Given the description of an element on the screen output the (x, y) to click on. 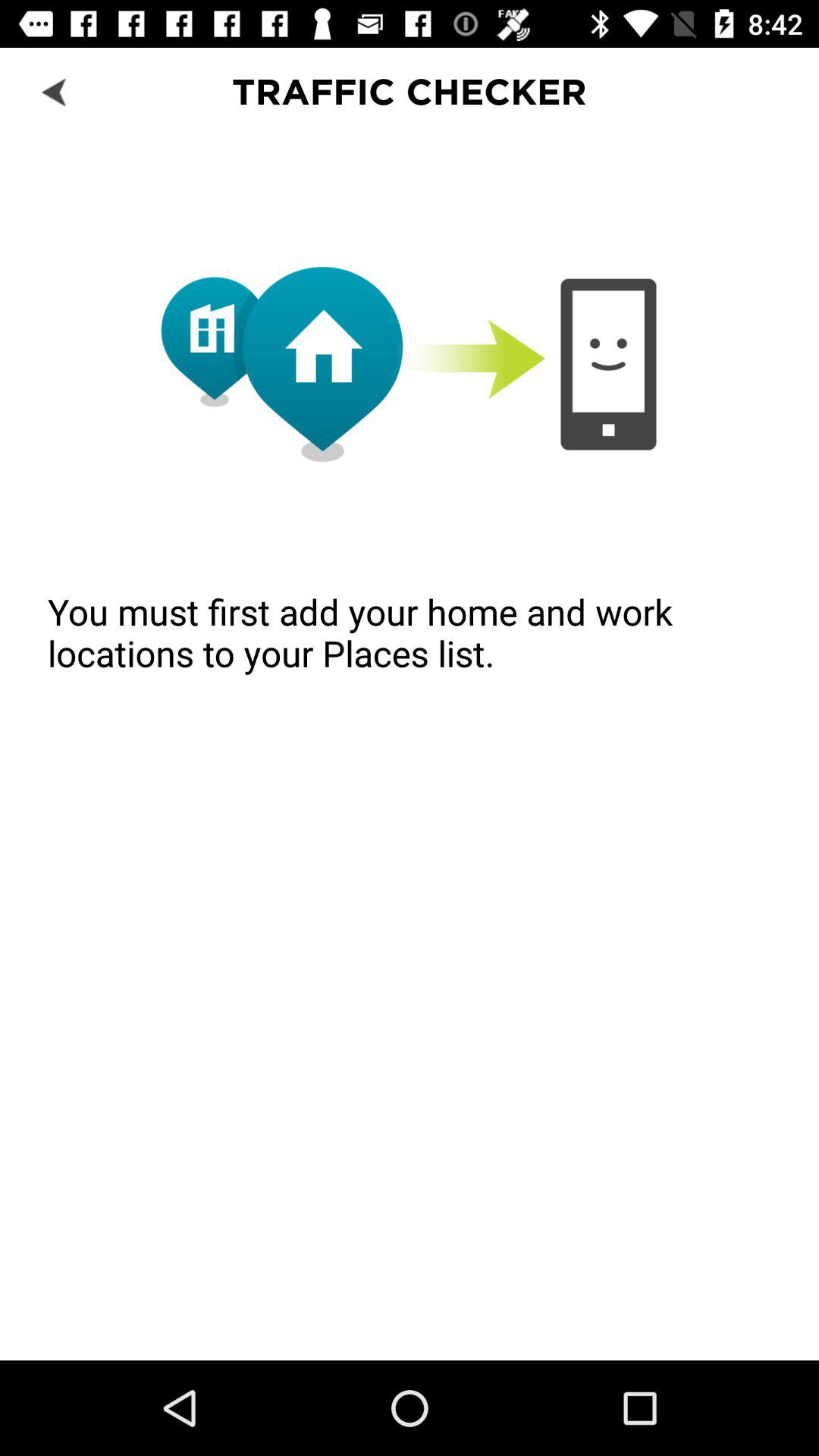
turn on icon to the left of the traffic checker item (55, 91)
